Given the description of an element on the screen output the (x, y) to click on. 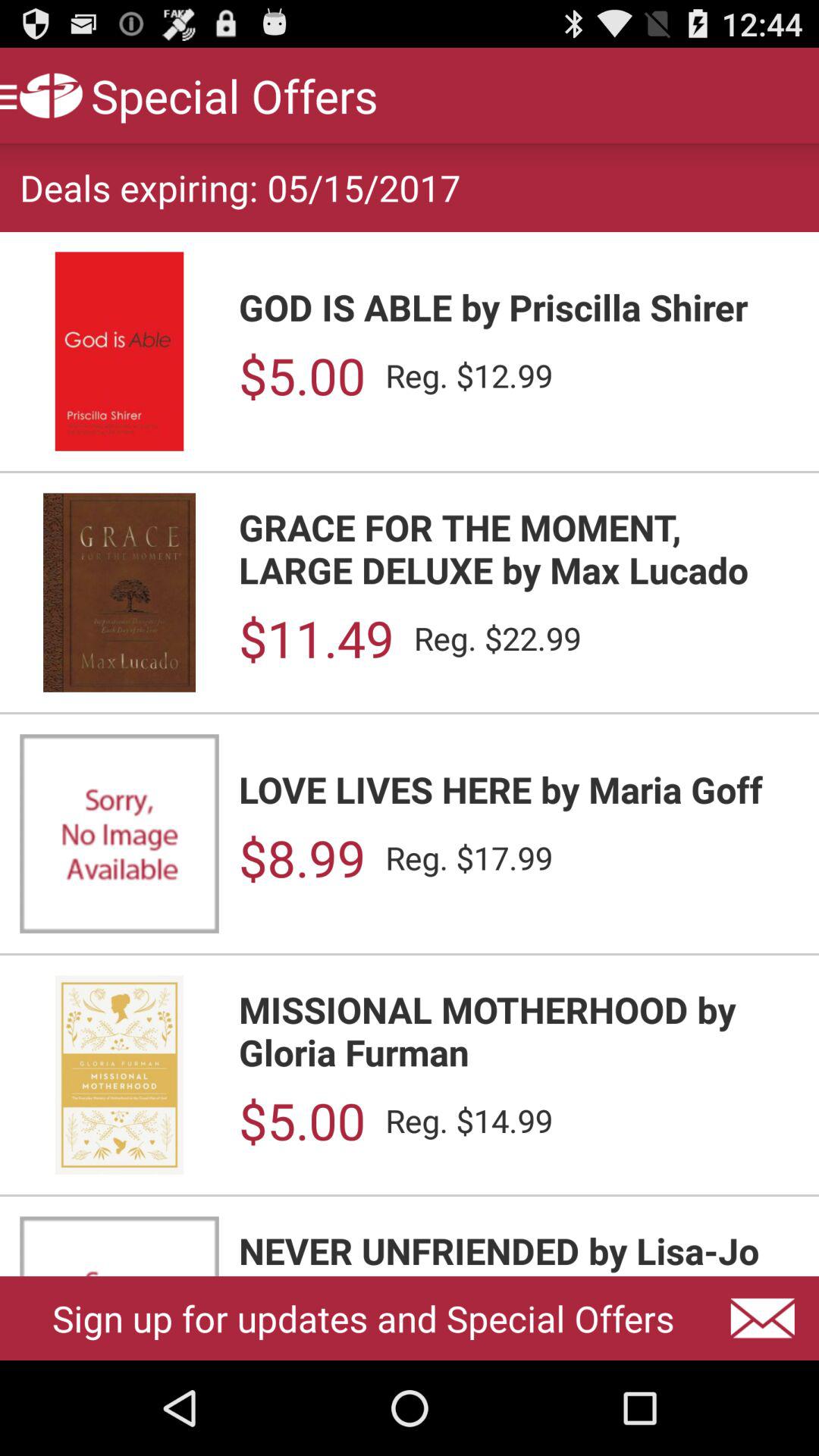
launch the item above $5.00 (518, 306)
